Given the description of an element on the screen output the (x, y) to click on. 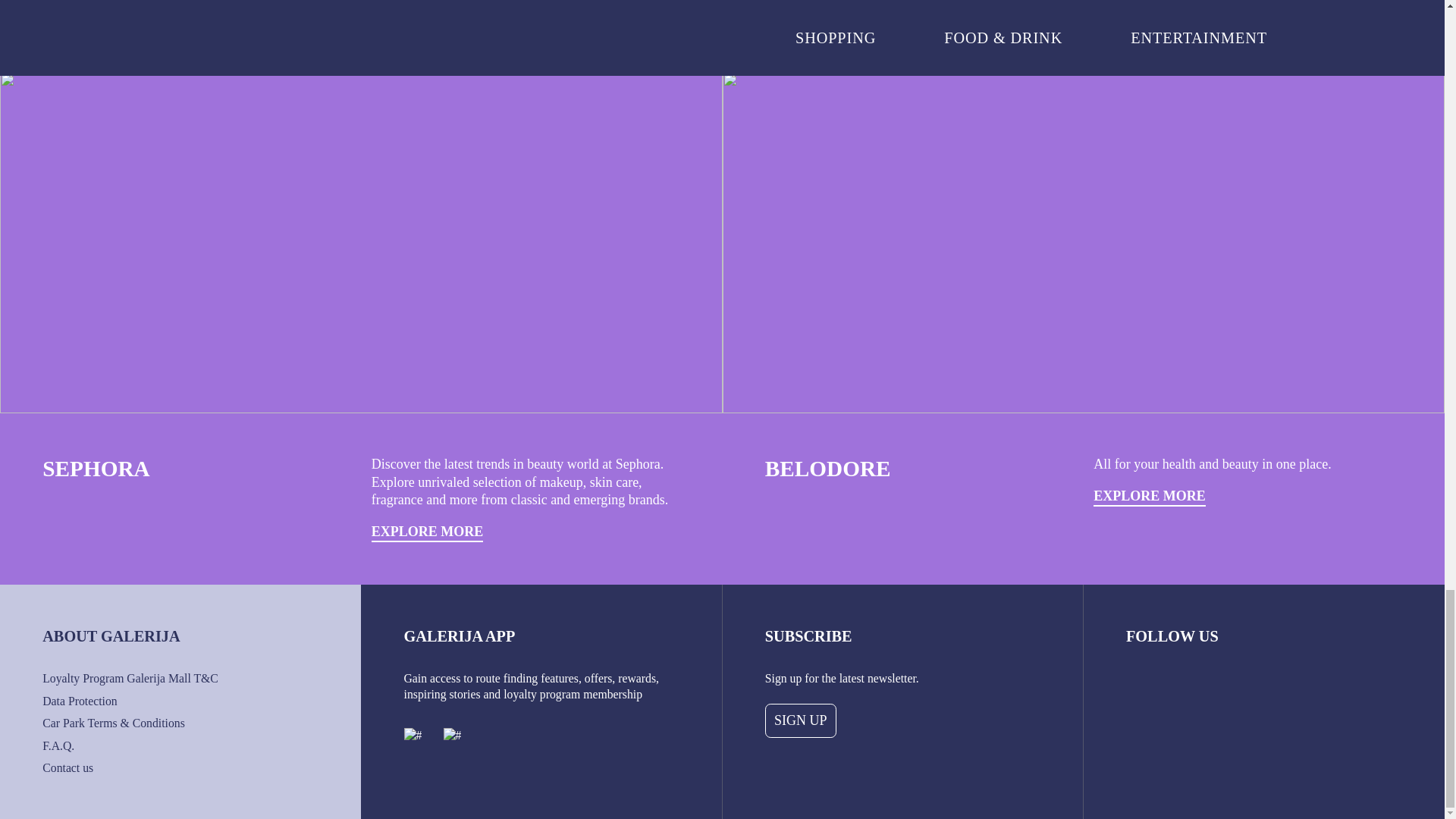
EXPLORE MORE (1149, 496)
ABOUT GALERIJA (110, 636)
EXPLORE MORE (427, 532)
Contact us (67, 767)
SIGN UP (800, 720)
Data Protection (79, 700)
F.A.Q. (58, 745)
